Given the description of an element on the screen output the (x, y) to click on. 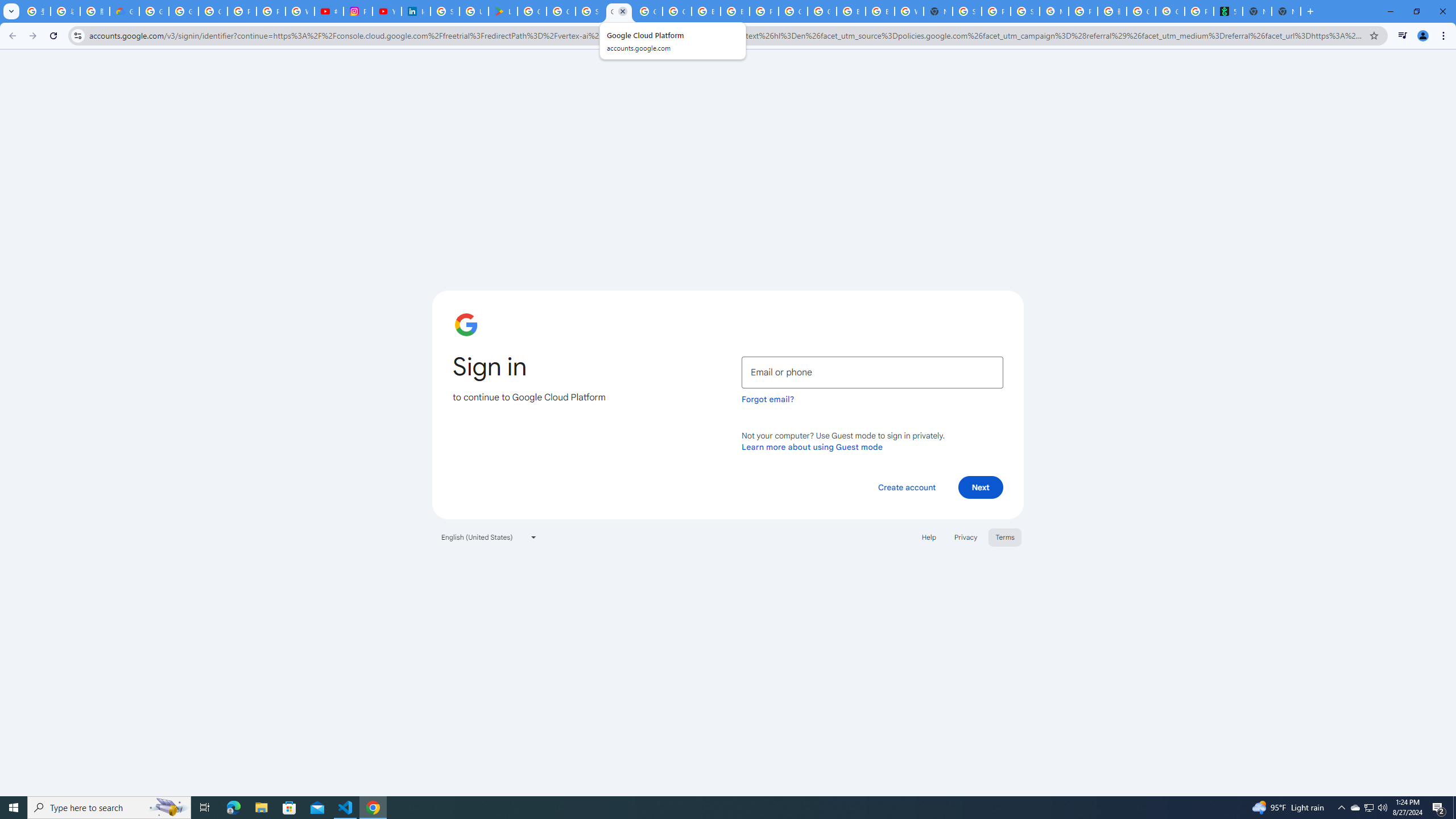
Sign in - Google Accounts (967, 11)
Google Cloud Platform (619, 11)
Sign in - Google Accounts (444, 11)
Browse Chrome as a guest - Computer - Google Chrome Help (850, 11)
Sign in - Google Accounts (590, 11)
